Given the description of an element on the screen output the (x, y) to click on. 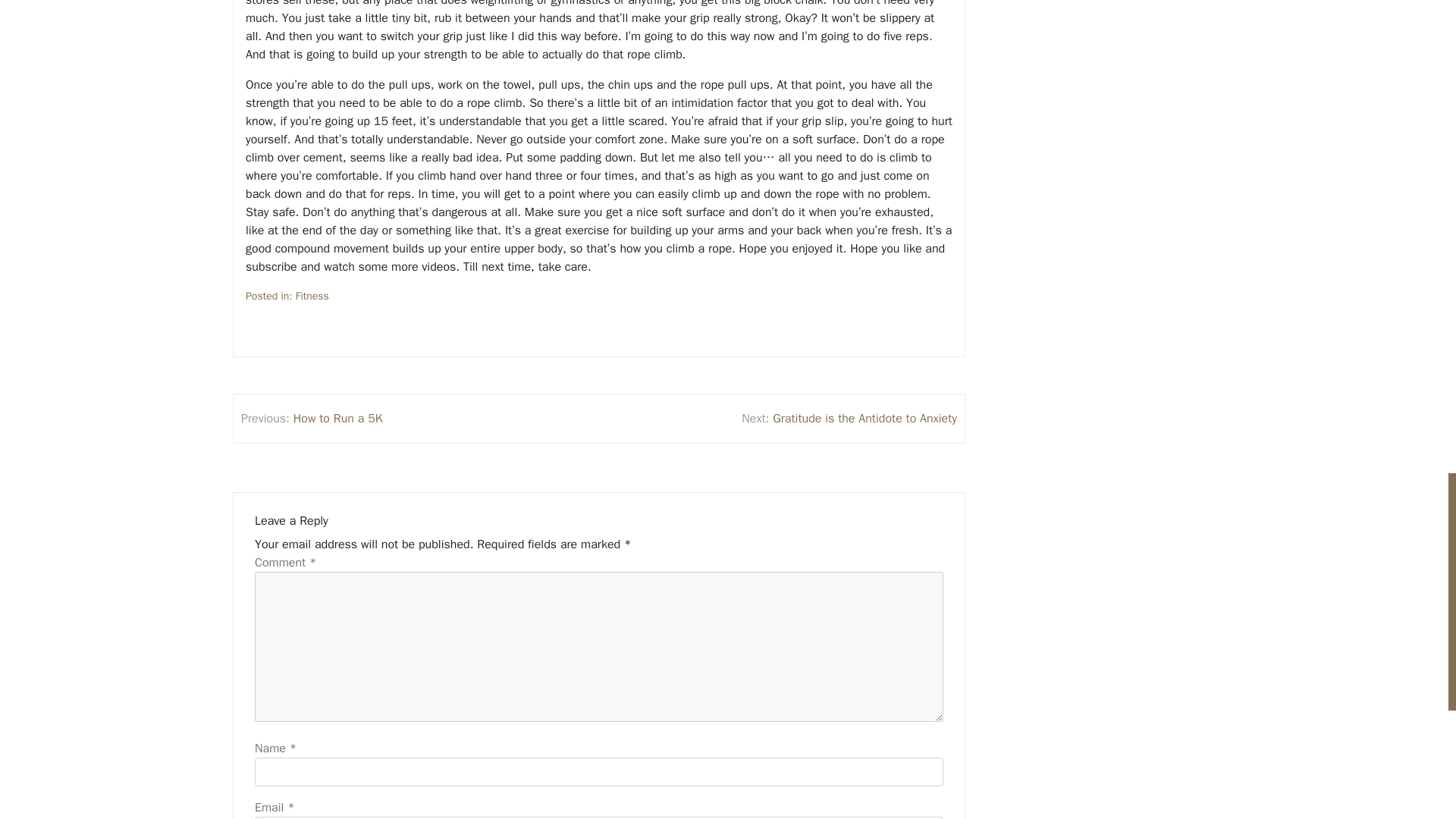
Fitness (312, 295)
Previous: How to Run a 5K (311, 418)
Next: Gratitude is the Antidote to Anxiety (848, 418)
